Given the description of an element on the screen output the (x, y) to click on. 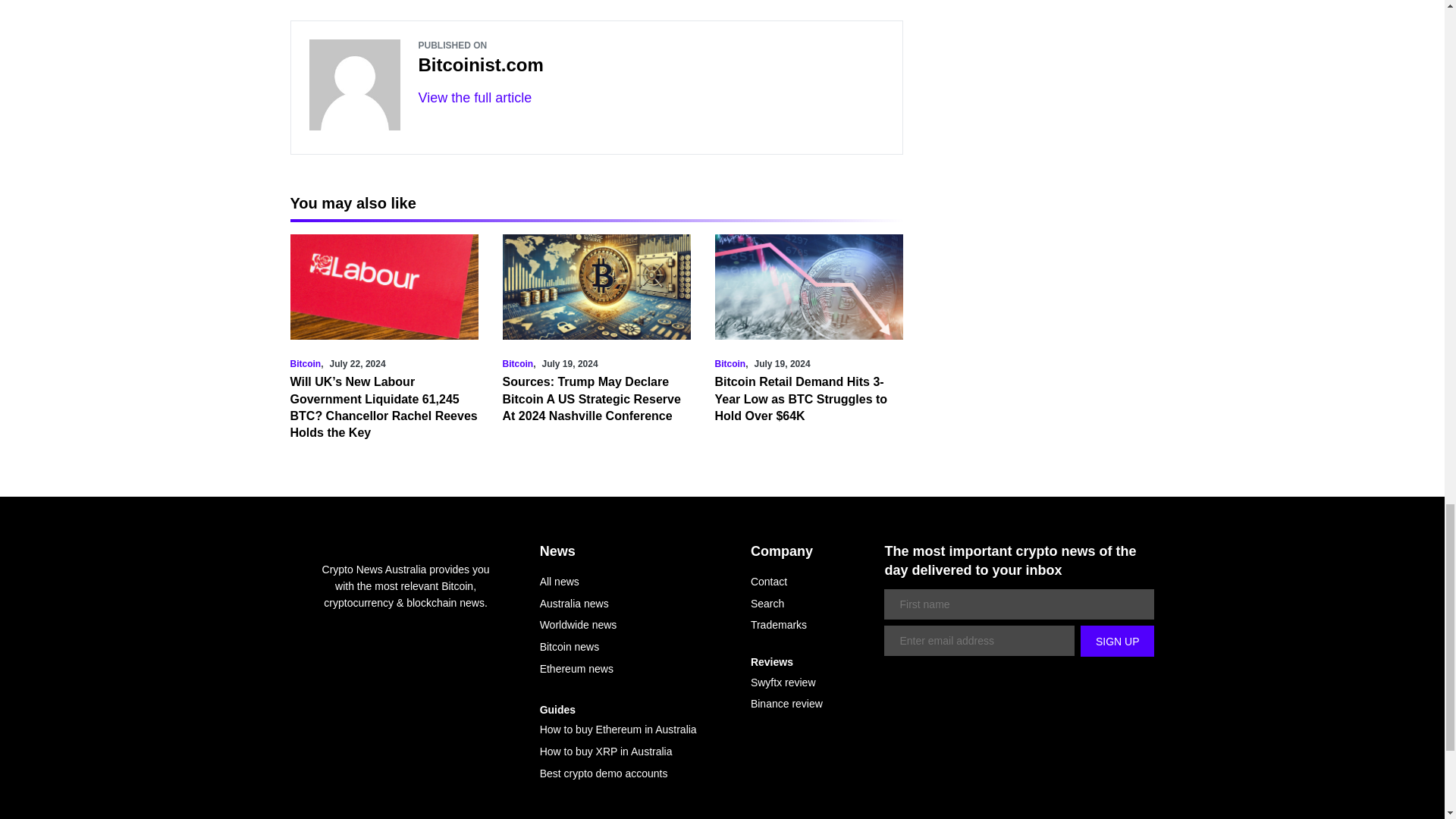
Sign up (1117, 640)
View the full article (475, 97)
Bitcoin (517, 363)
Bitcoin (304, 363)
